Given the description of an element on the screen output the (x, y) to click on. 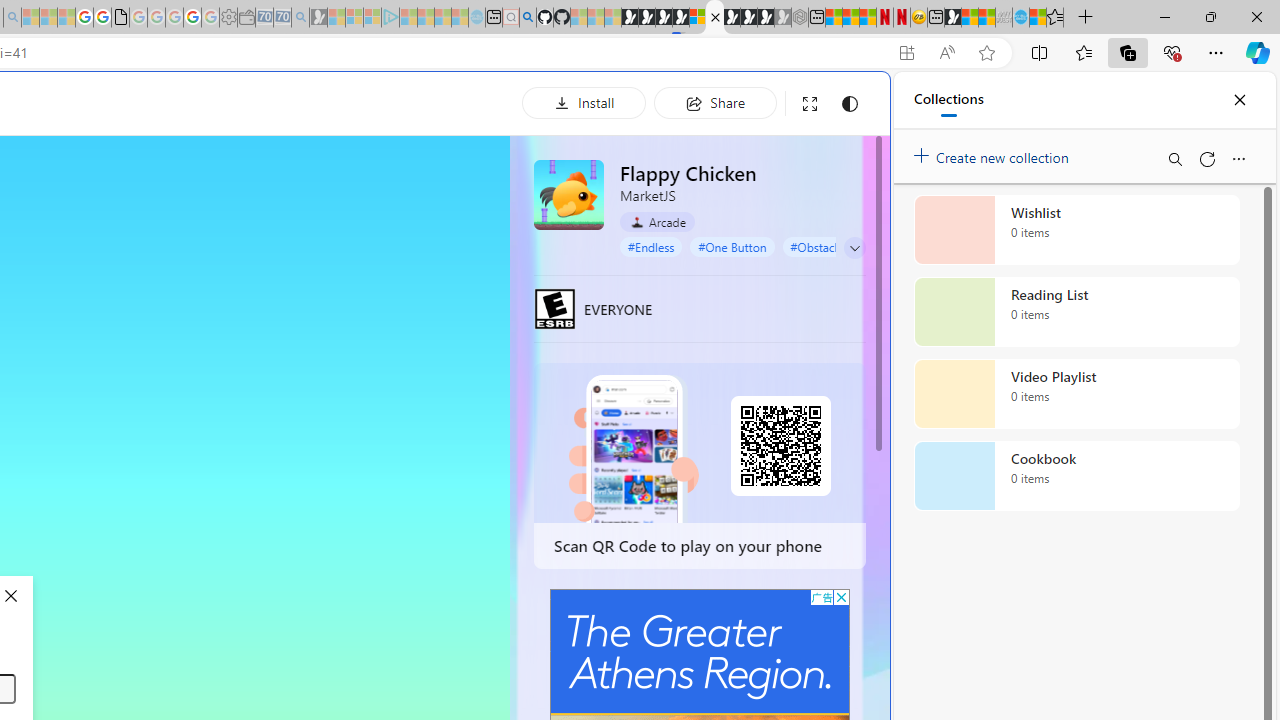
Video Playlist collection, 0 items (1076, 394)
Close split screen (844, 102)
